Given the description of an element on the screen output the (x, y) to click on. 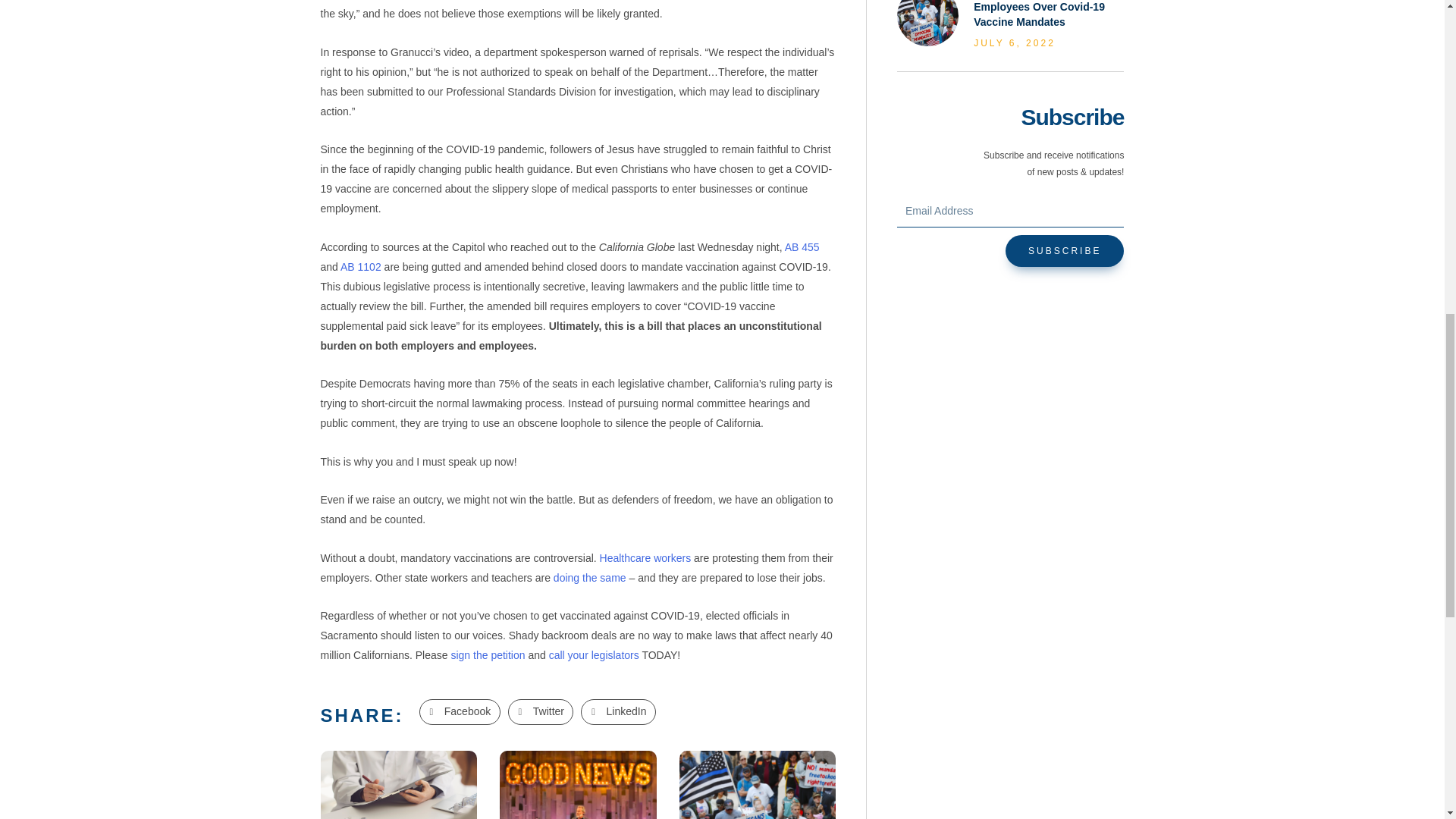
San Diego Blog - California Family Council (927, 23)
San Diego Blog - California Family Council (756, 784)
AB 1102 (360, 266)
sign the petition (486, 654)
call your legislators (593, 654)
doing the same (588, 577)
Healthcare workers (645, 558)
AB 455 (801, 246)
